Given the description of an element on the screen output the (x, y) to click on. 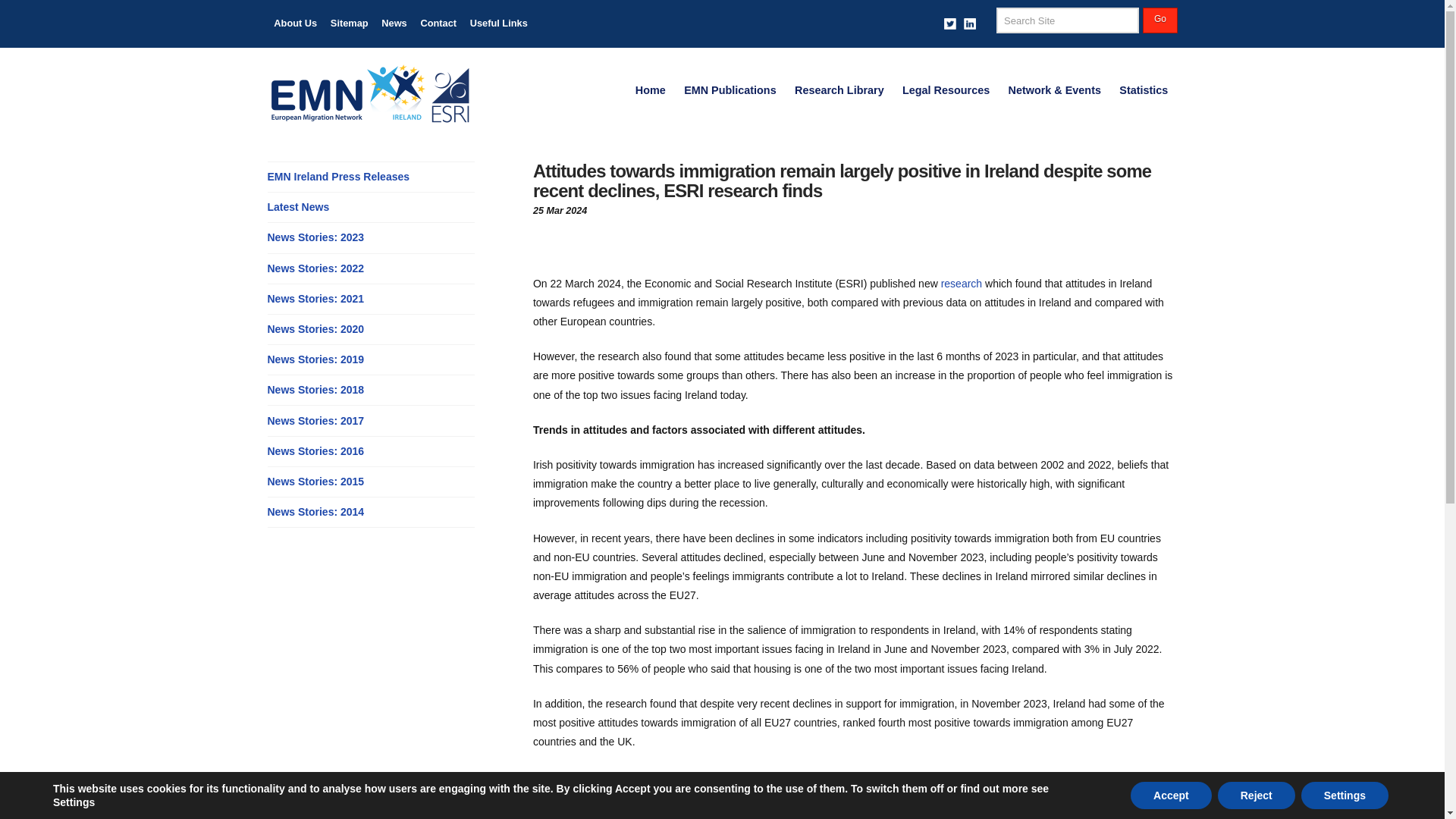
News Stories: 2014 (315, 512)
News Stories: 2016 (315, 451)
Useful Links (498, 23)
Go (1159, 20)
Legal Resources (945, 90)
News Stories: 2020 (315, 329)
Sitemap (348, 23)
Contact (438, 23)
News Stories: 2018 (315, 390)
Statistics (1142, 90)
Research Library (839, 90)
Go (1159, 20)
News Stories: 2015 (315, 481)
News Stories: 2017 (315, 421)
research (960, 283)
